Given the description of an element on the screen output the (x, y) to click on. 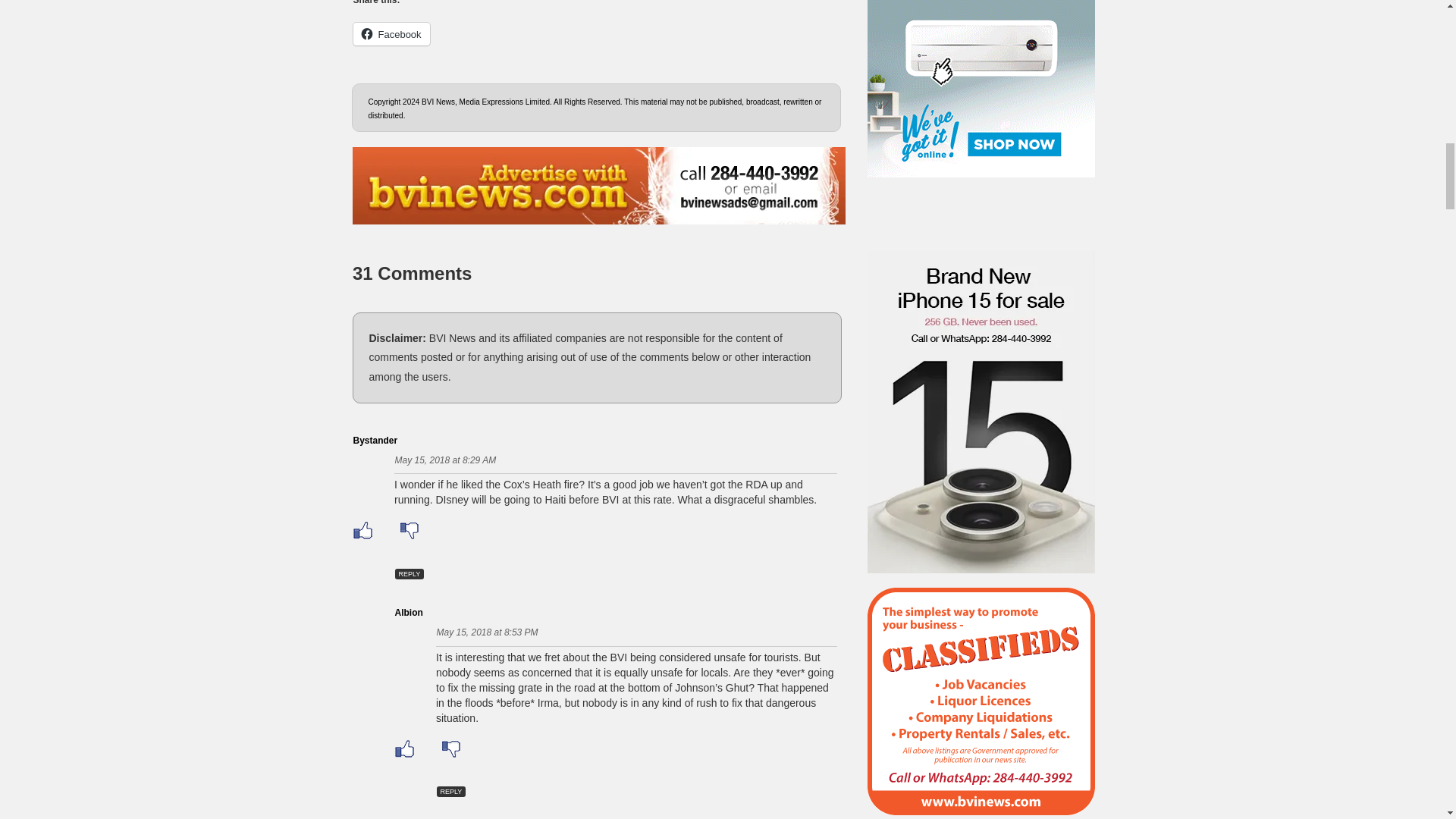
Dislike (408, 530)
Like (403, 748)
REPLY (408, 573)
May 15, 2018 at 8:53 PM (487, 632)
Facebook (391, 33)
May 15, 2018 at 8:29 AM (445, 460)
Like (362, 530)
REPLY (450, 791)
Dislike (450, 748)
Click to share on Facebook (391, 33)
